Given the description of an element on the screen output the (x, y) to click on. 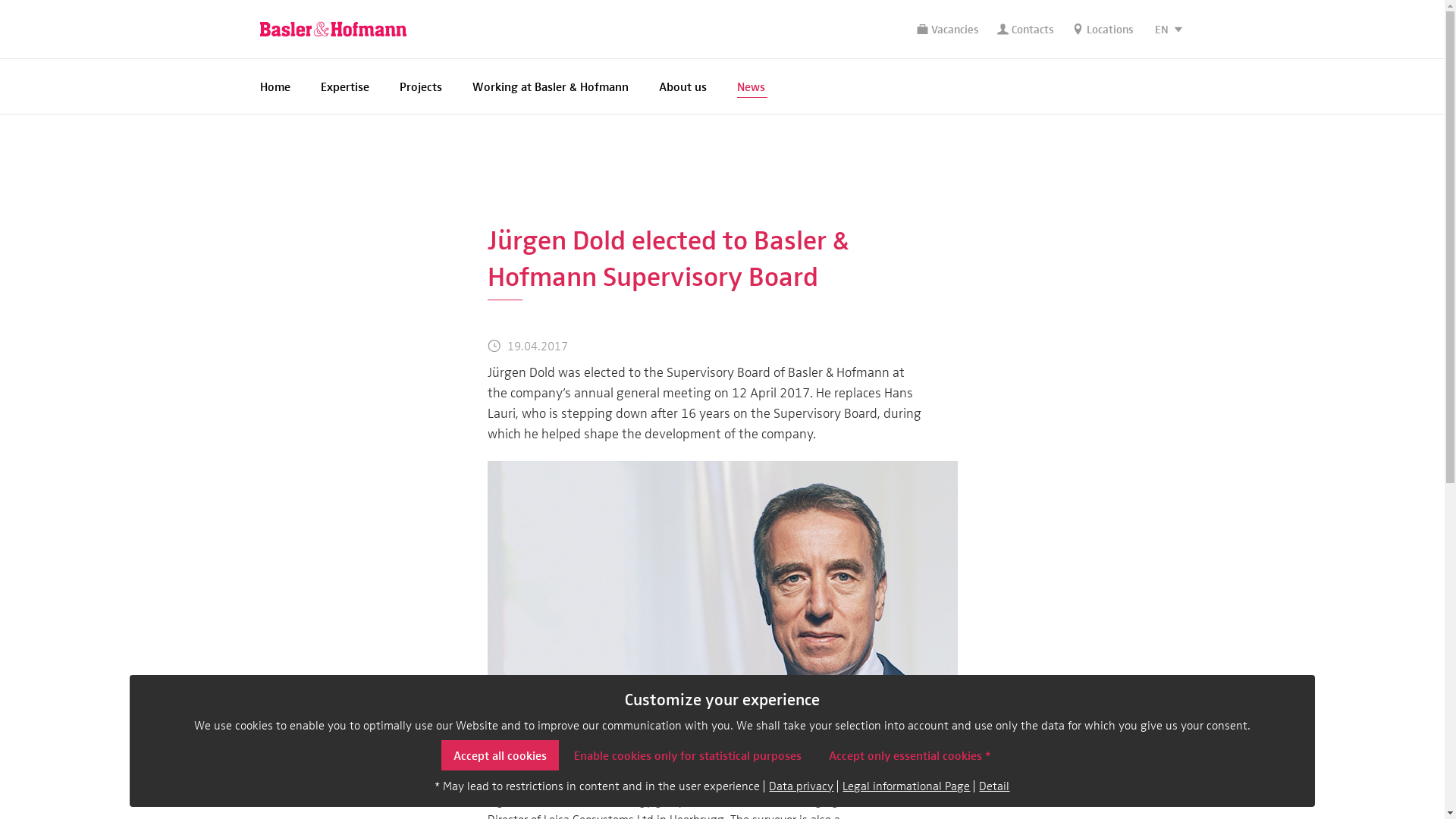
Vacancies Element type: text (947, 29)
Locations Element type: text (1102, 29)
Contacts Element type: text (1024, 29)
Legal informational Page Element type: text (905, 784)
Accept all cookies Element type: text (499, 755)
Home Element type: text (274, 85)
News Element type: text (751, 85)
Expertise Element type: text (344, 85)
Working at Basler & Hofmann Element type: text (549, 85)
Accept only essential cookies * Element type: text (909, 755)
Detail Element type: text (994, 784)
About us Element type: text (682, 85)
Enable cookies only for statistical purposes Element type: text (687, 755)
Projects Element type: text (419, 85)
Data privacy Element type: text (800, 784)
